Given the description of an element on the screen output the (x, y) to click on. 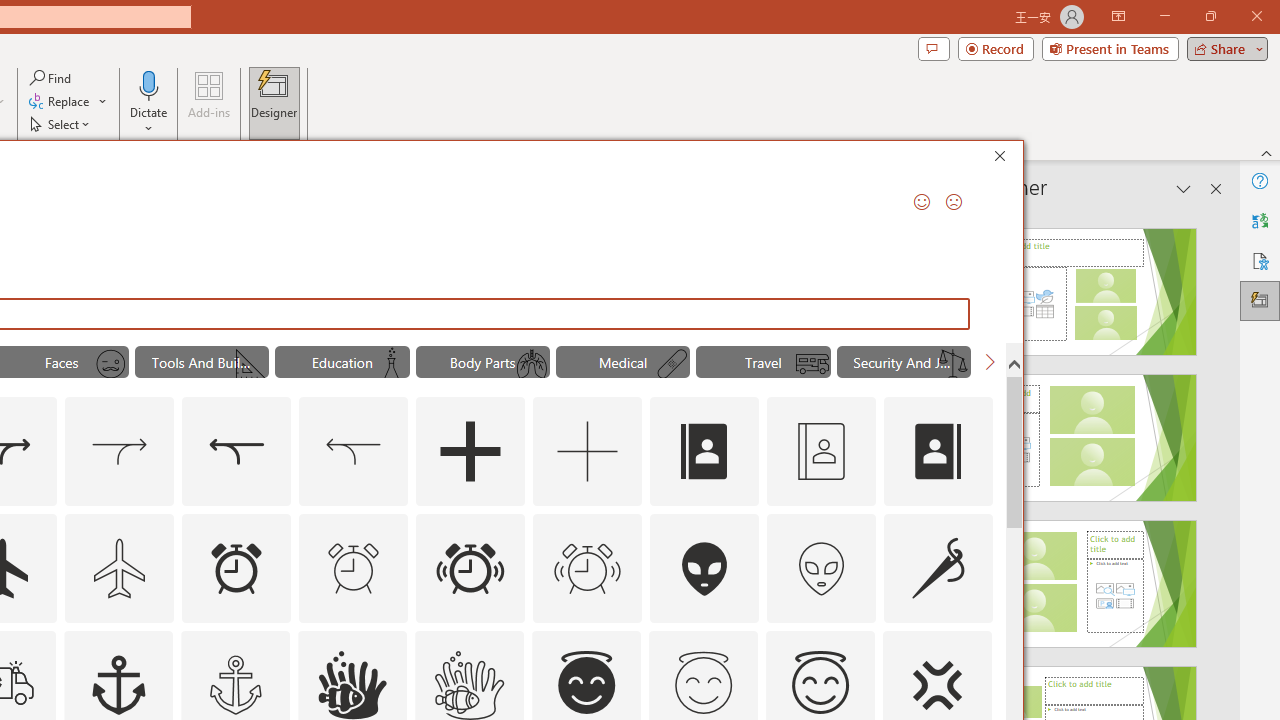
AutomationID: Icons_Acquisition_RTL (236, 452)
"Medical" Icons. (622, 362)
AutomationID: Icons_Add (470, 452)
Next Search Suggestion (990, 362)
AutomationID: Icons_Flask_M (391, 364)
AutomationID: Icons_AlienFace (705, 568)
AutomationID: _134_Angel_Face_A (586, 682)
AutomationID: Icons_AlarmClock_M (353, 568)
AutomationID: Icons_AlienFace_M (821, 568)
AutomationID: Icons_AlarmRinging (470, 568)
Find... (51, 78)
"Security And Justice" Icons. (904, 362)
AutomationID: Icons_MoustacheFace_M (111, 364)
